Given the description of an element on the screen output the (x, y) to click on. 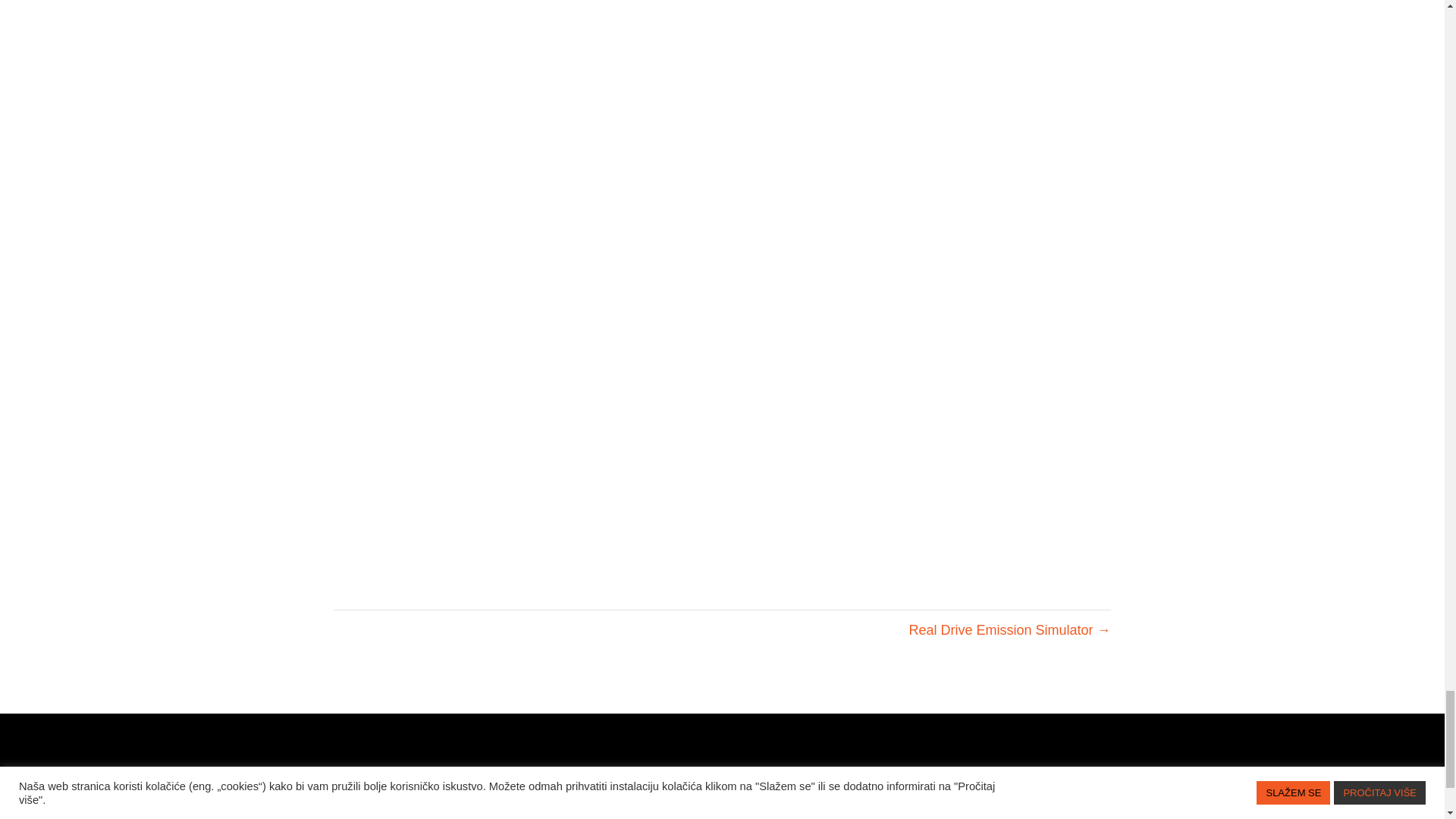
Projects (705, 810)
Contact (793, 810)
About (625, 810)
